Given the description of an element on the screen output the (x, y) to click on. 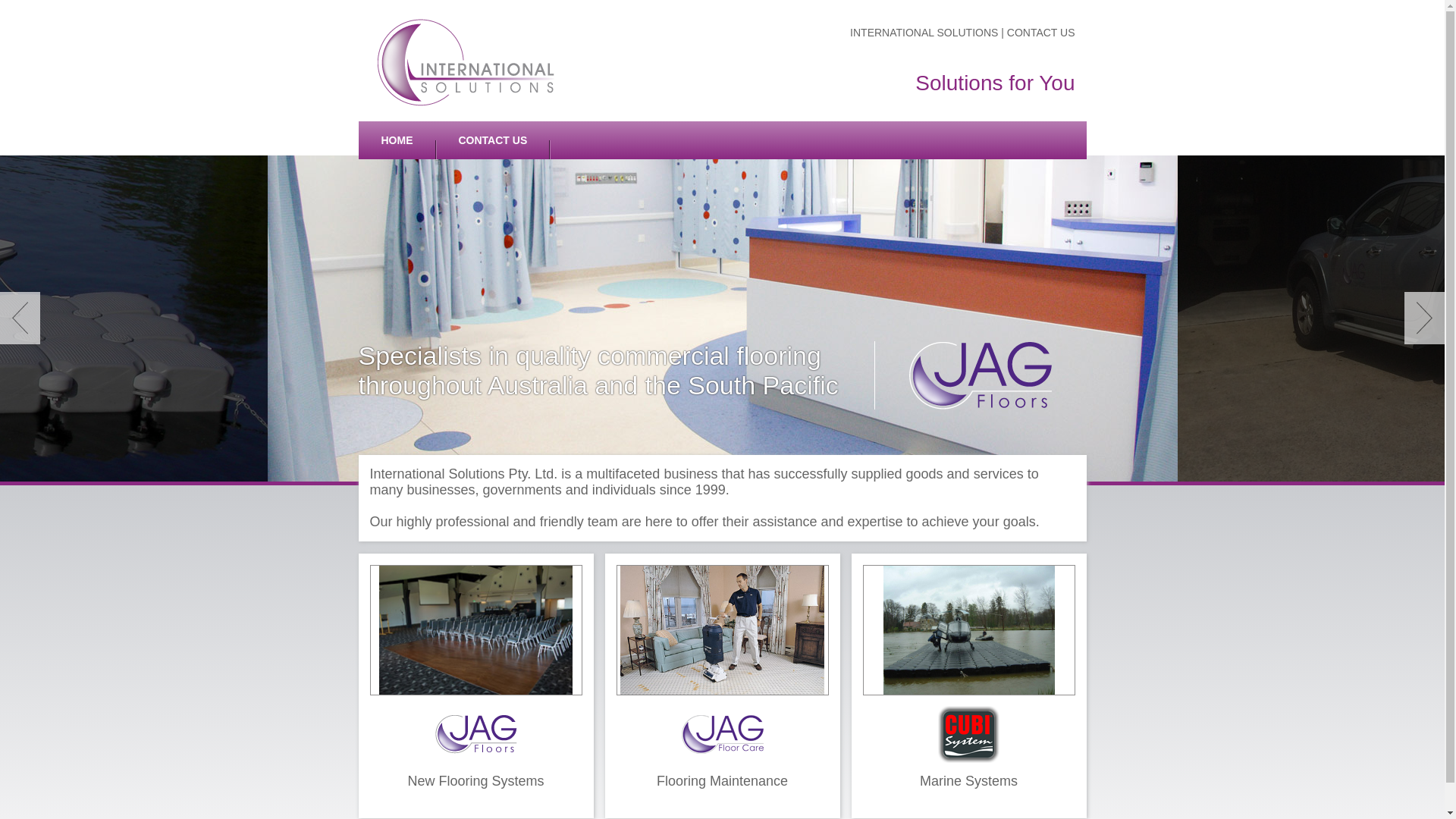
CONTACT US Element type: text (492, 140)
INTERNATIONAL SOLUTIONS Element type: text (925, 32)
CONTACT US Element type: text (1041, 32)
International Solutions Element type: hover (465, 63)
Flooring Maintenance Element type: text (722, 685)
HOME Element type: text (396, 140)
Marine Systems Element type: text (967, 685)
New Flooring Systems Element type: text (475, 685)
